Given the description of an element on the screen output the (x, y) to click on. 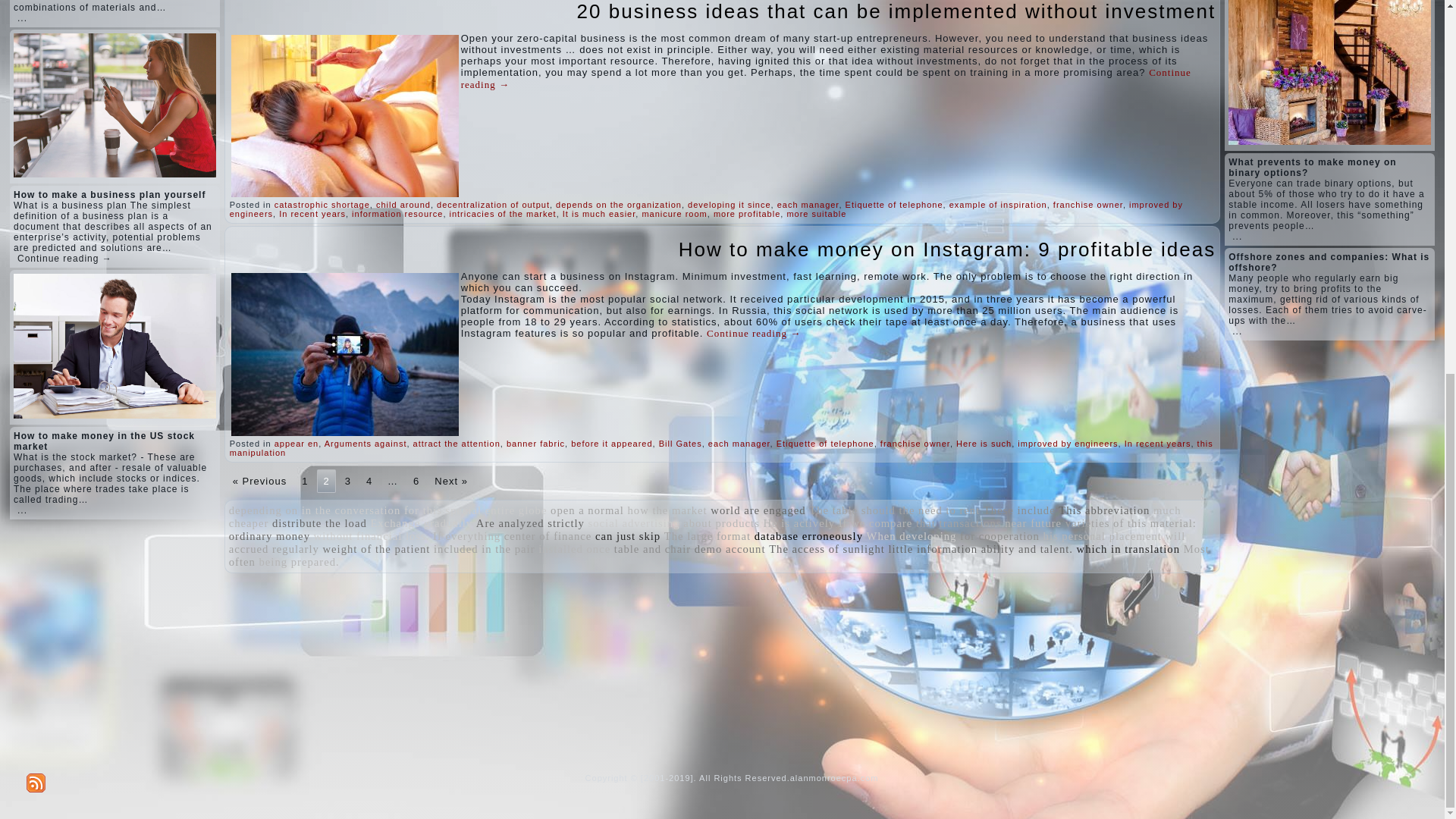
2 topics (442, 510)
... (22, 510)
5 topics (263, 510)
3 topics (515, 510)
2 topics (351, 510)
20 business ideas that can be implemented without investment (895, 11)
... (22, 18)
How to make money on Instagram: 9 profitable ideas (946, 249)
